Given the description of an element on the screen output the (x, y) to click on. 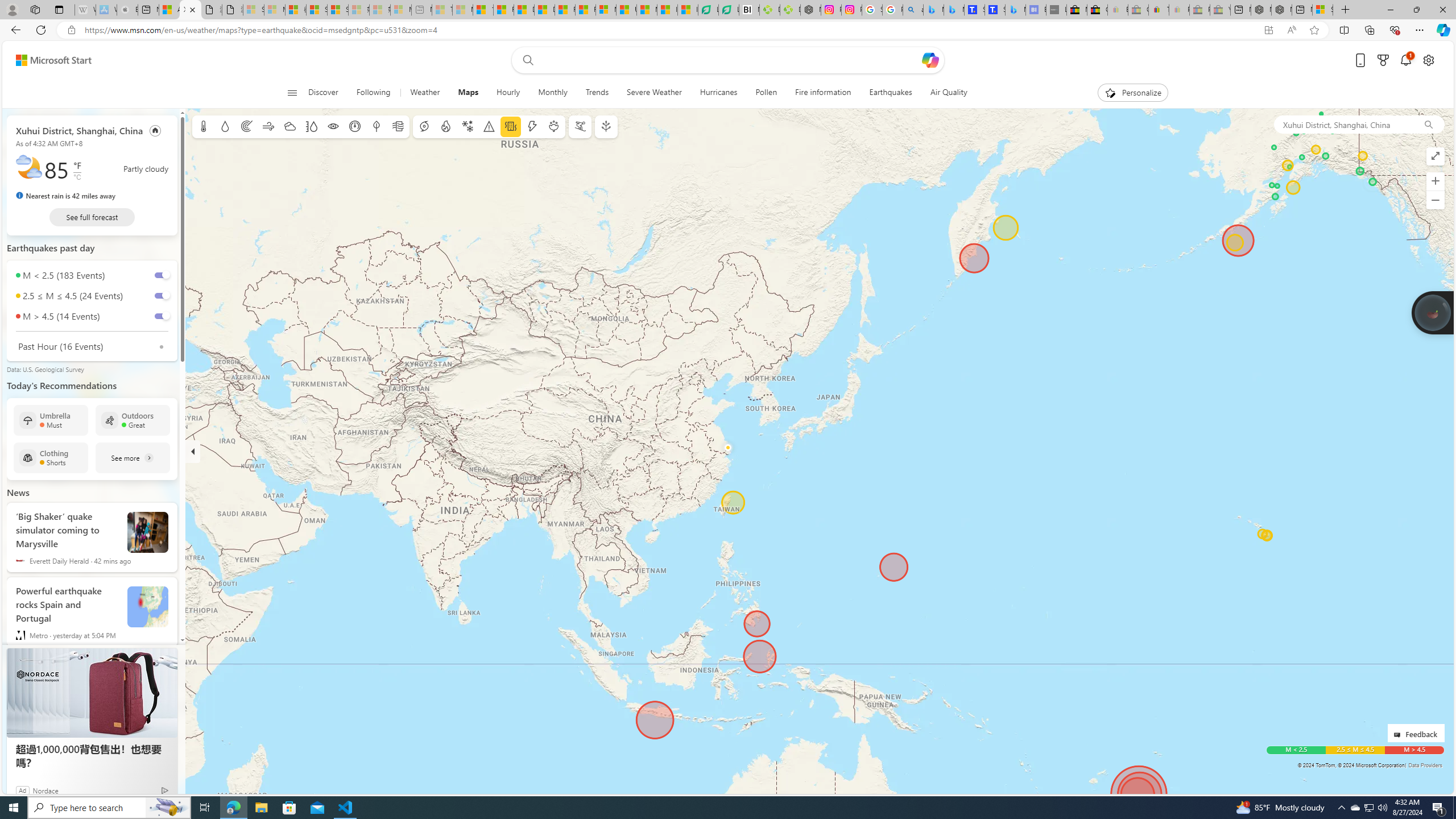
Dew point (376, 126)
Threats and offensive language policy | eBay (1158, 9)
Set as primary location (155, 130)
Safety in Our Products - Google Safety Center (871, 9)
Severe Weather (653, 92)
Nordace - Summer Adventures 2024 (1281, 9)
Wikipedia - Sleeping (84, 9)
Fire information (445, 126)
